Given the description of an element on the screen output the (x, y) to click on. 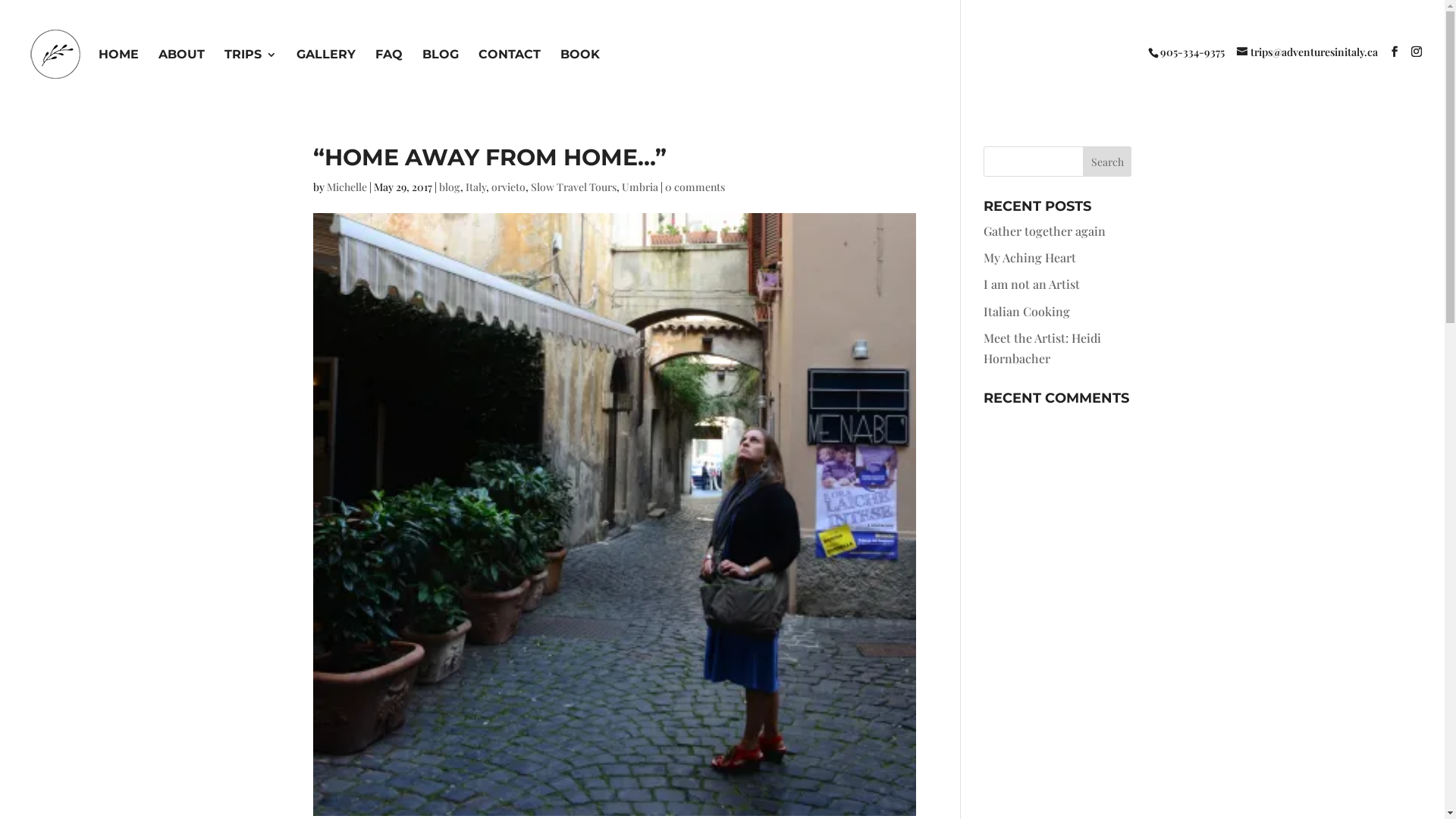
GALLERY Element type: text (325, 66)
Italy Element type: text (475, 186)
0 comments Element type: text (694, 186)
blog Element type: text (448, 186)
Umbria Element type: text (639, 186)
TRIPS Element type: text (250, 66)
905-334-9375 Element type: text (1192, 50)
ABOUT Element type: text (181, 66)
Italian Cooking Element type: text (1026, 311)
orvieto Element type: text (508, 186)
Meet the Artist: Heidi Hornbacher Element type: text (1042, 347)
Michelle Element type: text (346, 186)
I am not an Artist Element type: text (1031, 283)
HOME Element type: text (118, 66)
Search Element type: text (1107, 161)
My Aching Heart Element type: text (1029, 257)
FAQ Element type: text (388, 66)
CONTACT Element type: text (509, 66)
trips@adventuresinitaly.ca Element type: text (1306, 50)
Slow Travel Tours Element type: text (573, 186)
Gather together again Element type: text (1044, 230)
BOOK Element type: text (579, 66)
BLOG Element type: text (440, 66)
